Given the description of an element on the screen output the (x, y) to click on. 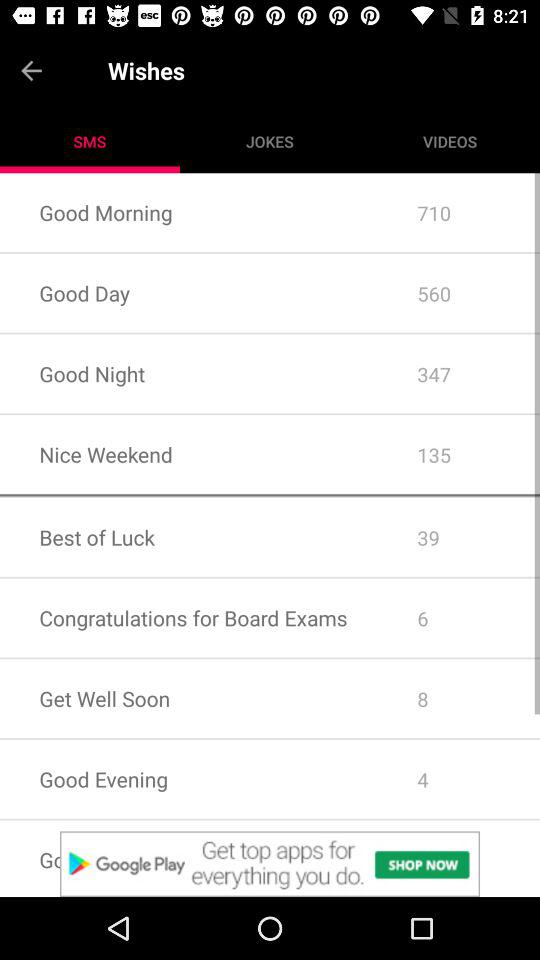
choose the item next to the 710 (188, 292)
